Given the description of an element on the screen output the (x, y) to click on. 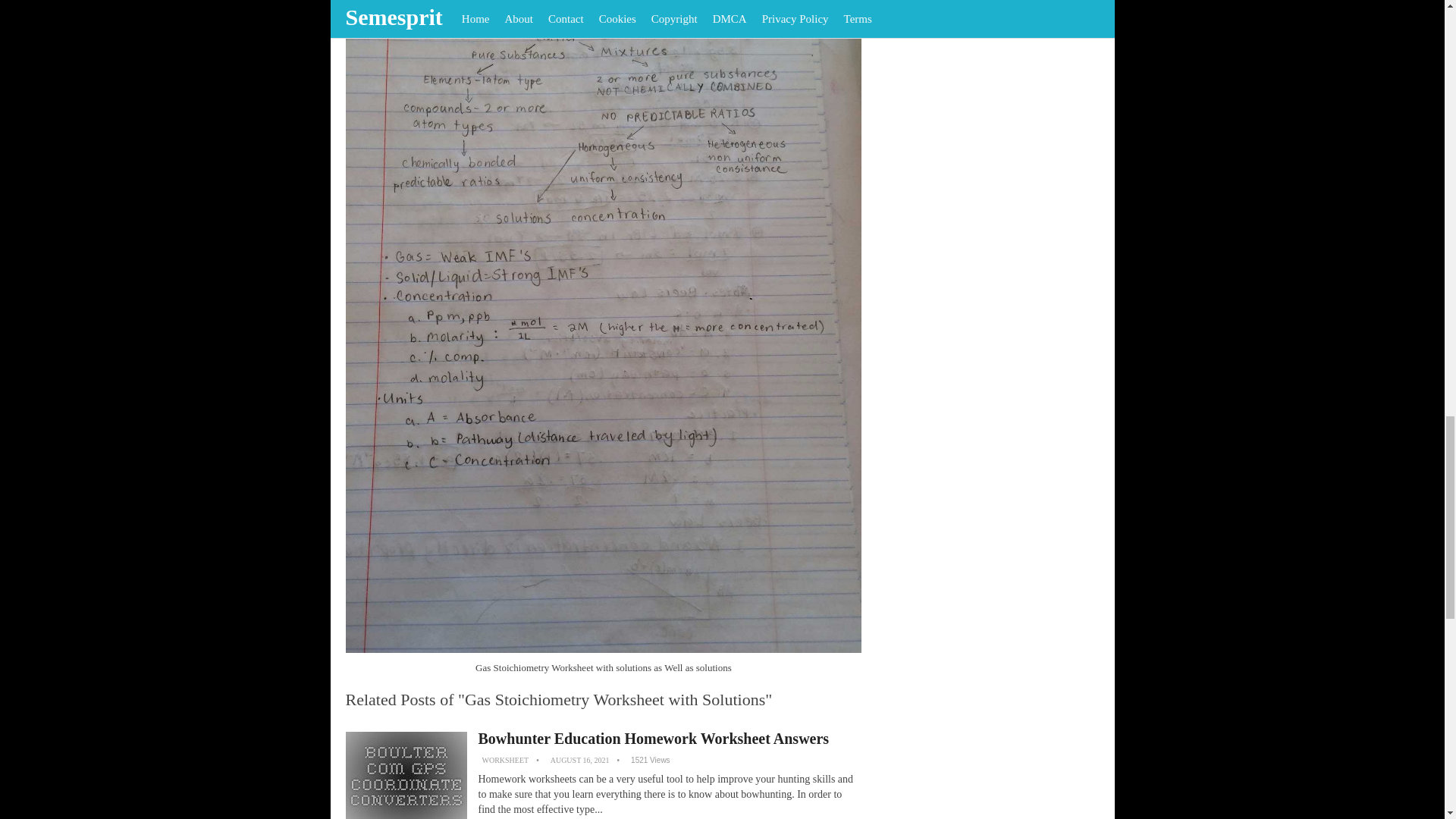
WORKSHEET (505, 759)
Bowhunter Education Homework Worksheet Answers (652, 738)
